Given the description of an element on the screen output the (x, y) to click on. 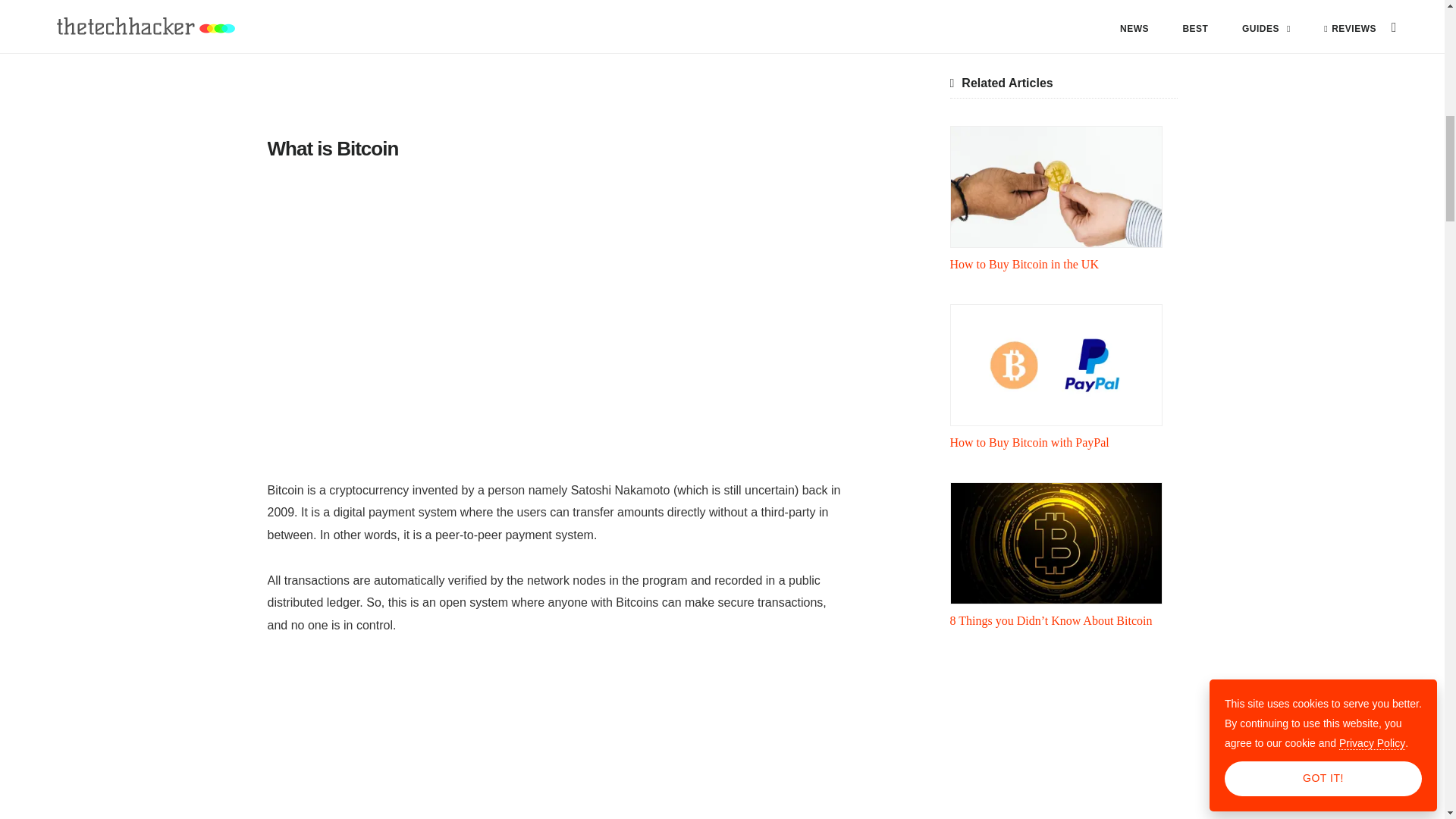
Advertisement (554, 64)
